Given the description of an element on the screen output the (x, y) to click on. 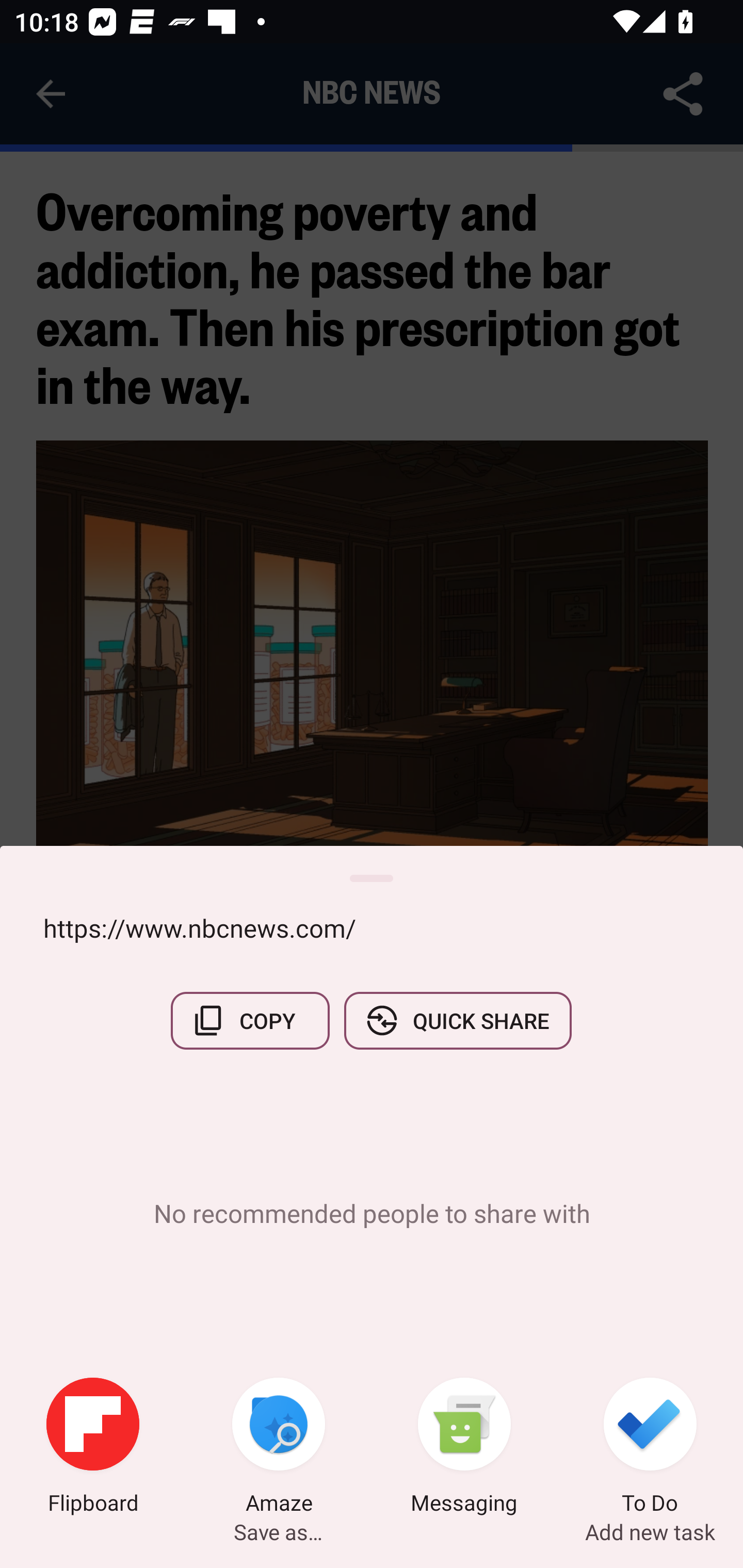
COPY (249, 1020)
QUICK SHARE (457, 1020)
Flipboard (92, 1448)
Amaze Save as… (278, 1448)
Messaging (464, 1448)
To Do Add new task (650, 1448)
